Given the description of an element on the screen output the (x, y) to click on. 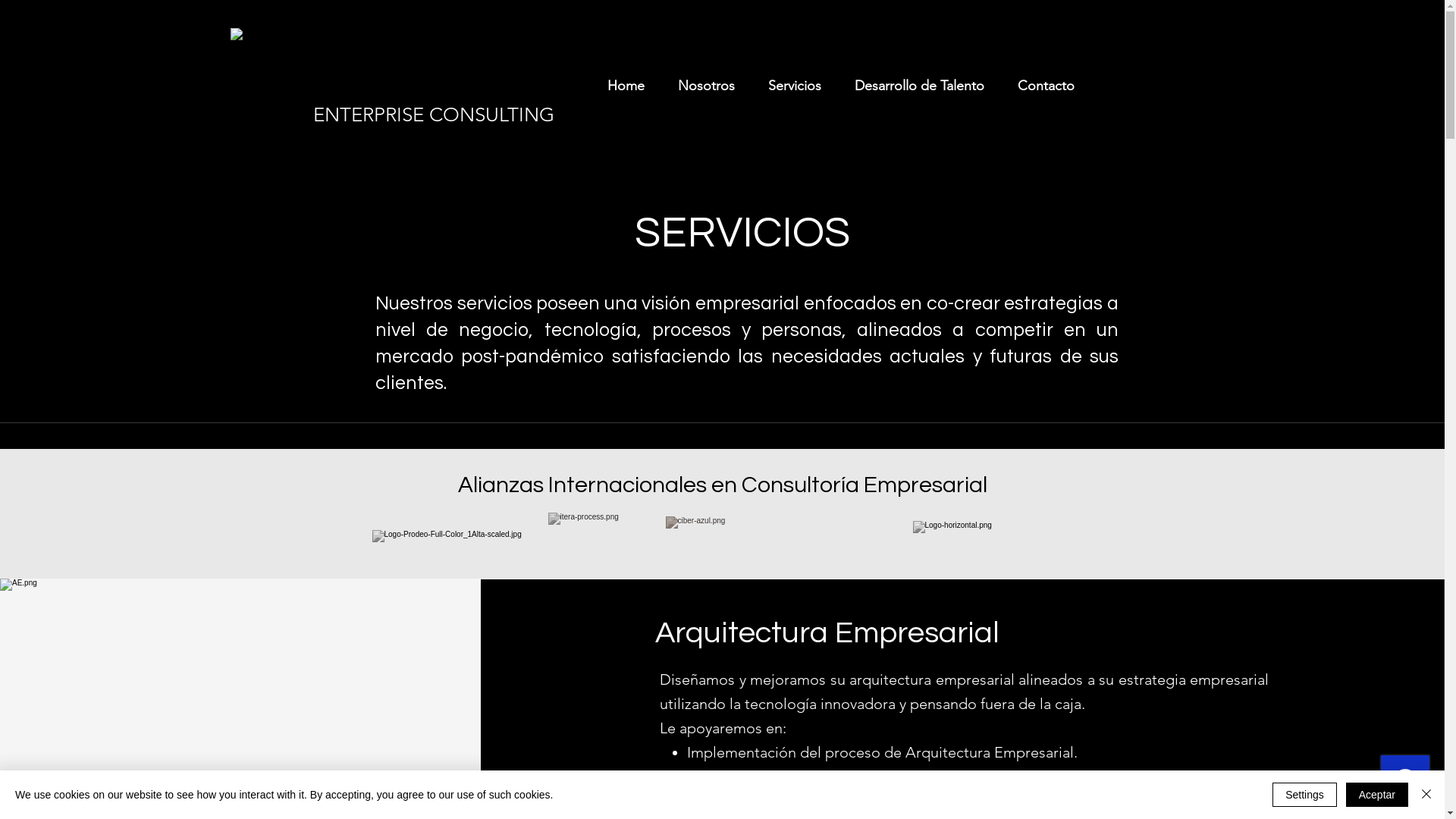
Aceptar Element type: text (1377, 794)
Settings Element type: text (1304, 794)
Nosotros Element type: text (700, 85)
Desarrollo de Talento Element type: text (913, 85)
Home Element type: text (619, 85)
Contacto Element type: text (1039, 85)
Servicios Element type: text (789, 85)
